Given the description of an element on the screen output the (x, y) to click on. 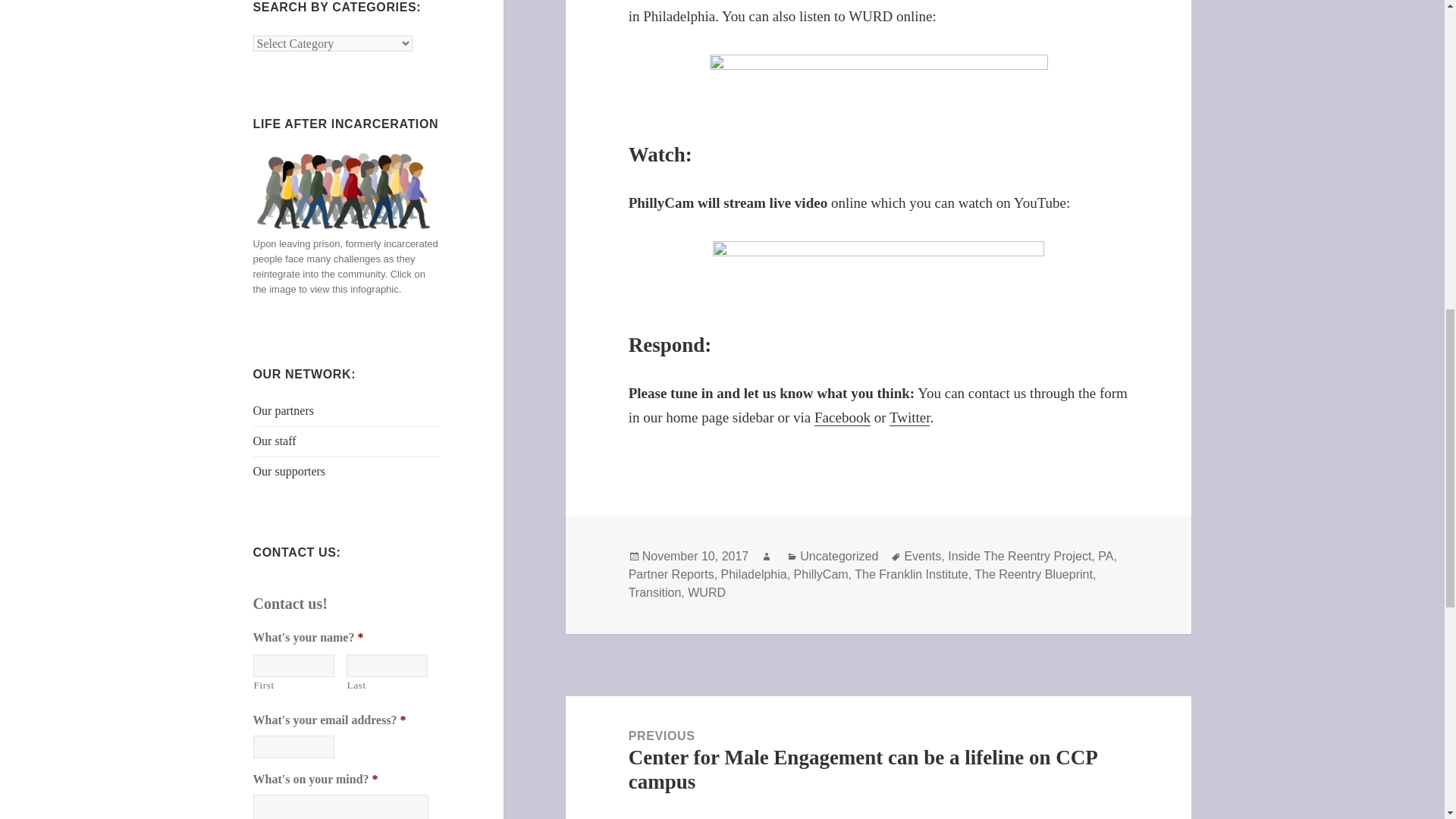
Inside The Reentry Project (1018, 556)
PA (1105, 556)
Philadelphia (753, 574)
PhillyCam (820, 574)
Events (922, 556)
Our staff (275, 440)
Facebook (841, 417)
Our supporters (289, 471)
Partner Reports (671, 574)
Twitter (909, 417)
